Given the description of an element on the screen output the (x, y) to click on. 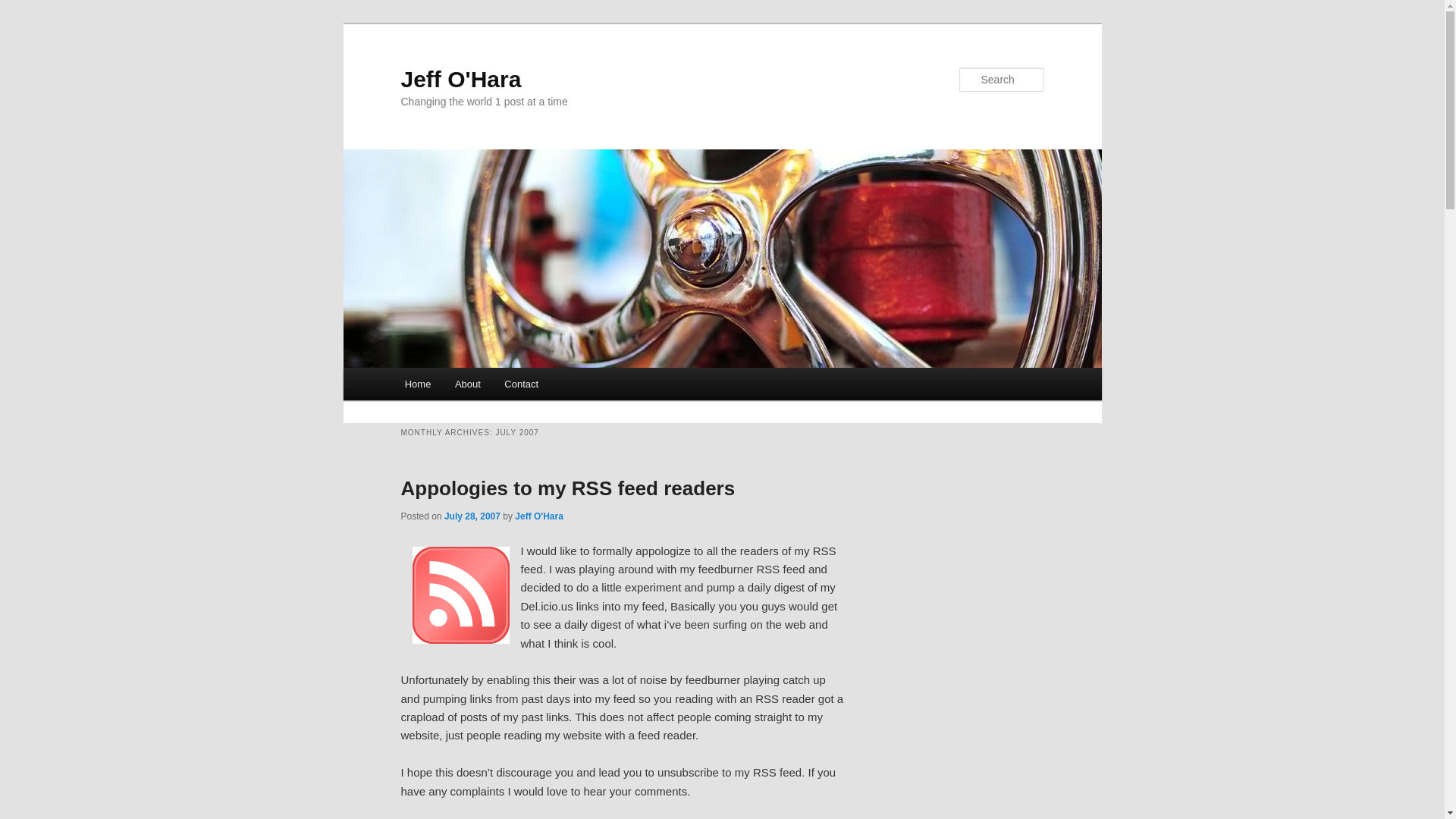
Jeff O'Hara (539, 516)
July 28, 2007 (472, 516)
View all posts by Jeff O'Hara (539, 516)
Contact (521, 383)
Appologies to my RSS feed readers (567, 487)
Home (417, 383)
8:08 am (472, 516)
Search (24, 8)
Jeff O'Hara (460, 78)
About (467, 383)
